Given the description of an element on the screen output the (x, y) to click on. 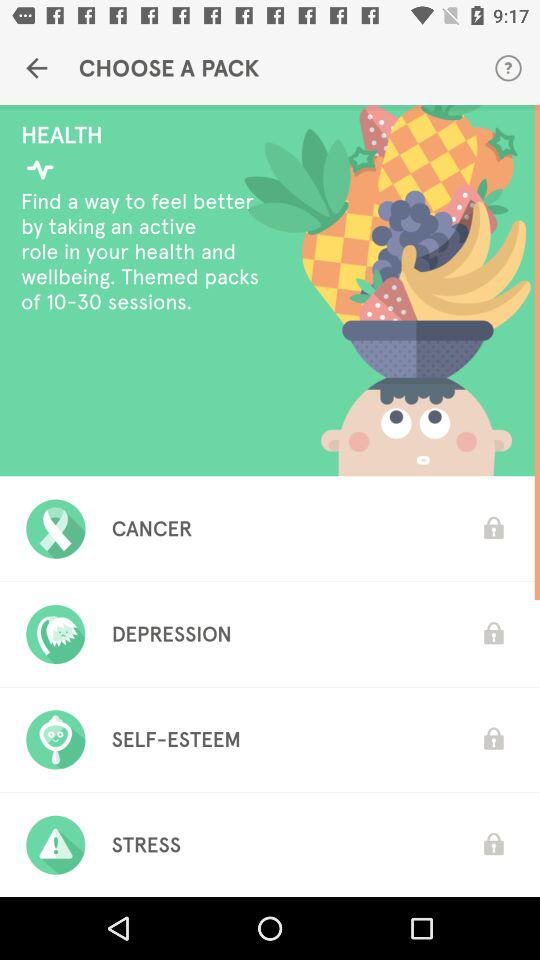
choose the icon to the right of choose a pack item (508, 67)
